Given the description of an element on the screen output the (x, y) to click on. 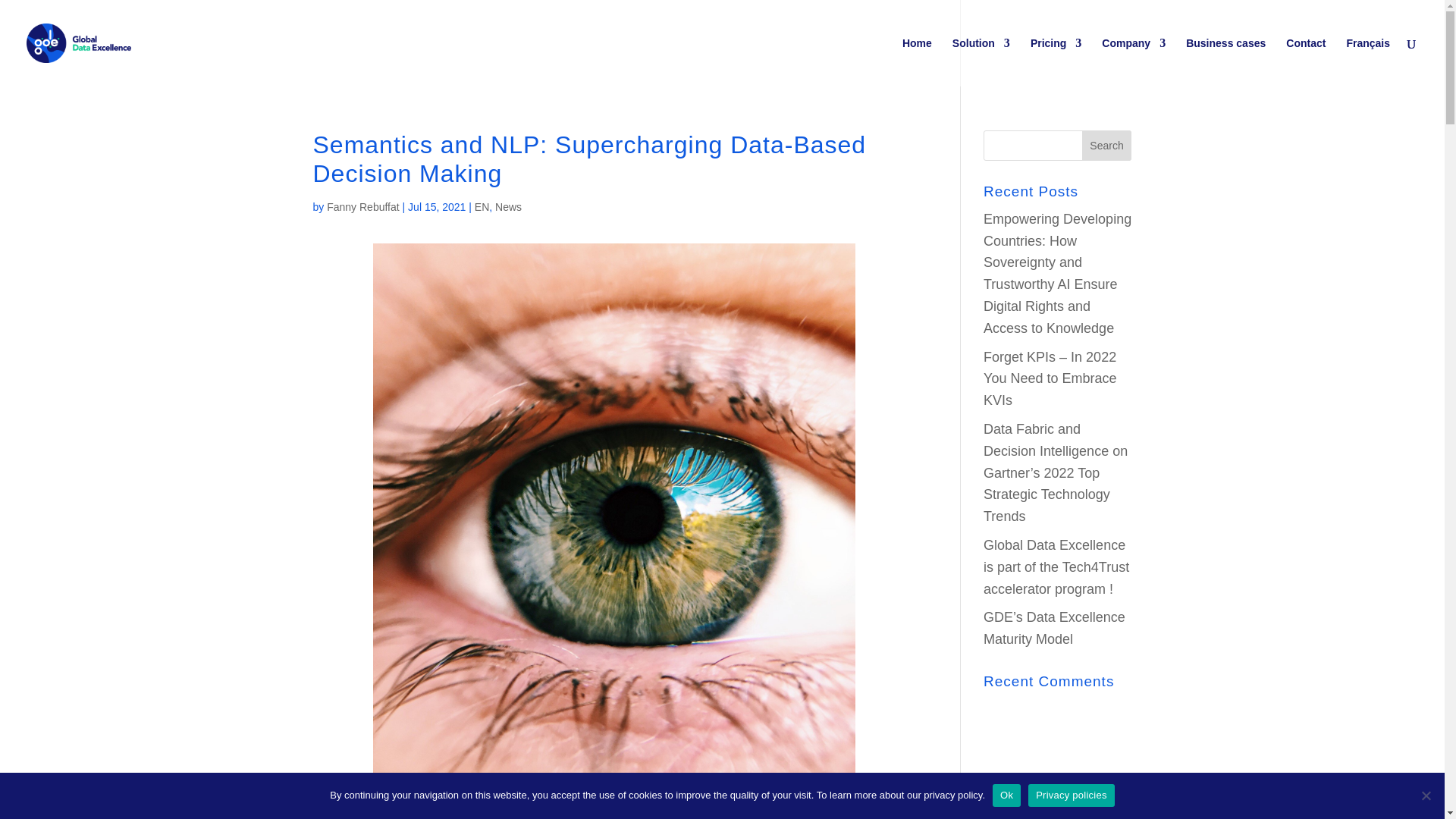
No (1425, 795)
Pricing (1055, 61)
Posts by Fanny Rebuffat (362, 206)
Company (1134, 61)
Solution (981, 61)
Business cases (1225, 61)
Fanny Rebuffat (362, 206)
Search (1106, 145)
